Given the description of an element on the screen output the (x, y) to click on. 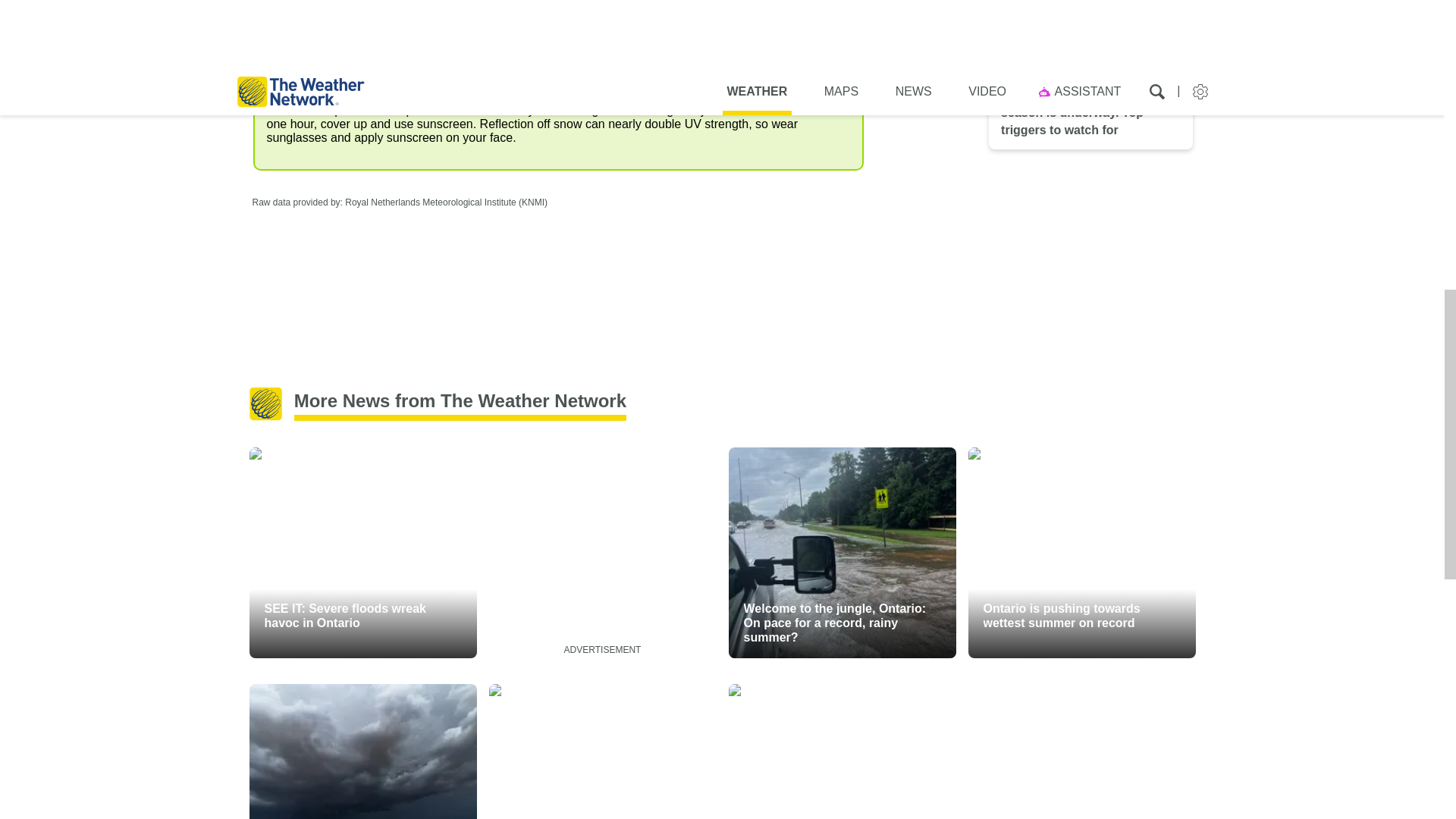
SEE IT: Severe floods wreak havoc in Ontario (362, 552)
Ontario is pushing towards wettest summer on record (1081, 552)
Feel like mosquitoes are targeting you? You might be right (601, 751)
Torrential rain floods roads in southern Ontario (841, 751)
